Given the description of an element on the screen output the (x, y) to click on. 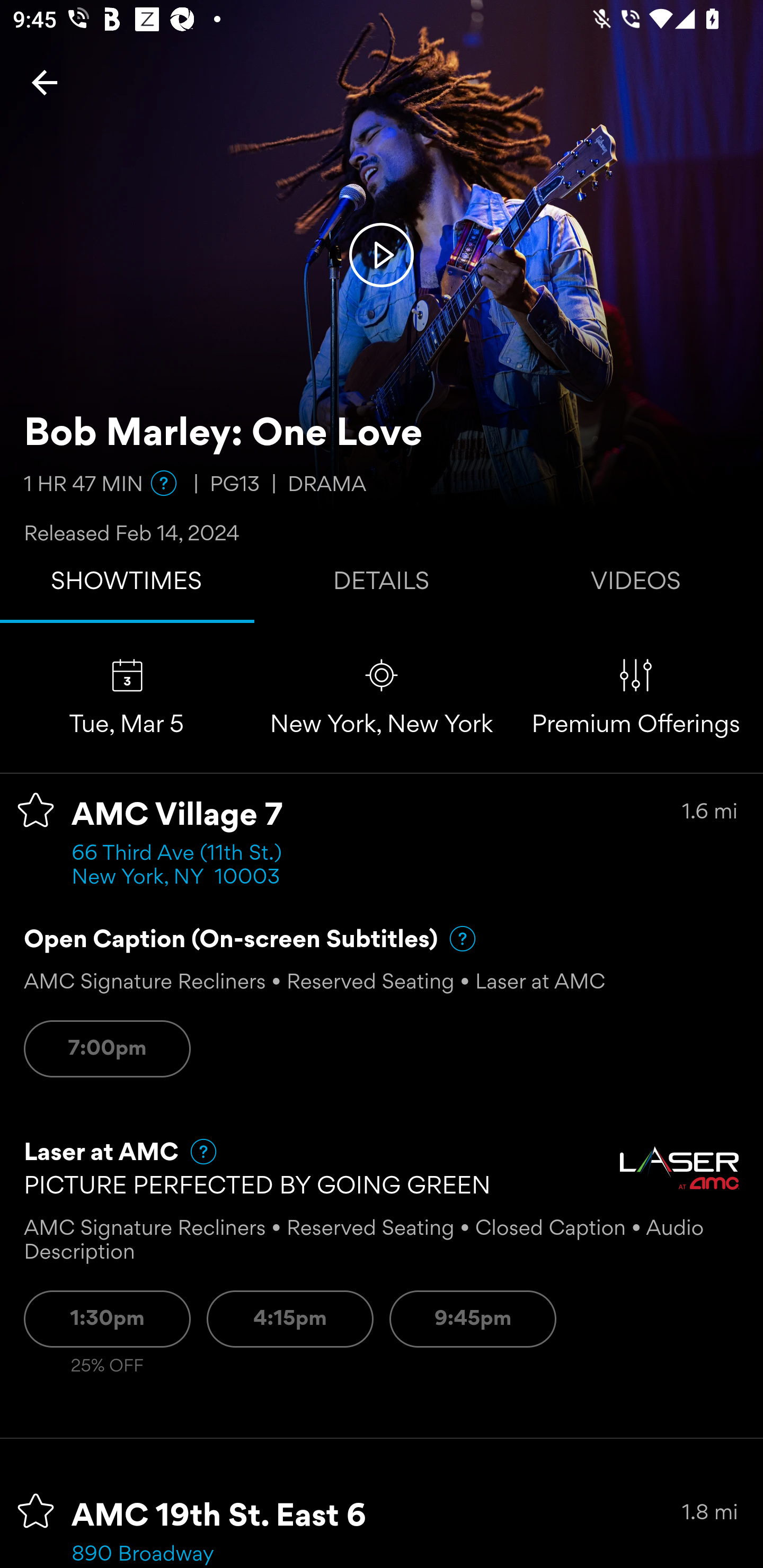
Back (44, 82)
Play (381, 254)
Help (163, 482)
SHOWTIMES
Tab 1 of 3 (127, 584)
DETAILS
Tab 2 of 3 (381, 584)
VIDEOS
Tab 3 of 3 (635, 584)
Change selected day
Tue, Mar 5 (127, 697)
Change location
New York, New York (381, 697)
Premium Offerings
Premium Offerings (635, 697)
AMC Village 7 (177, 816)
66 Third Ave (11th St.)  
New York, NY  10003 (182, 866)
Help (454, 938)
Help (195, 1151)
AMC 19th St. East 6 (219, 1517)
890 Broadway  
New York, NY  10003 (176, 1555)
